Given the description of an element on the screen output the (x, y) to click on. 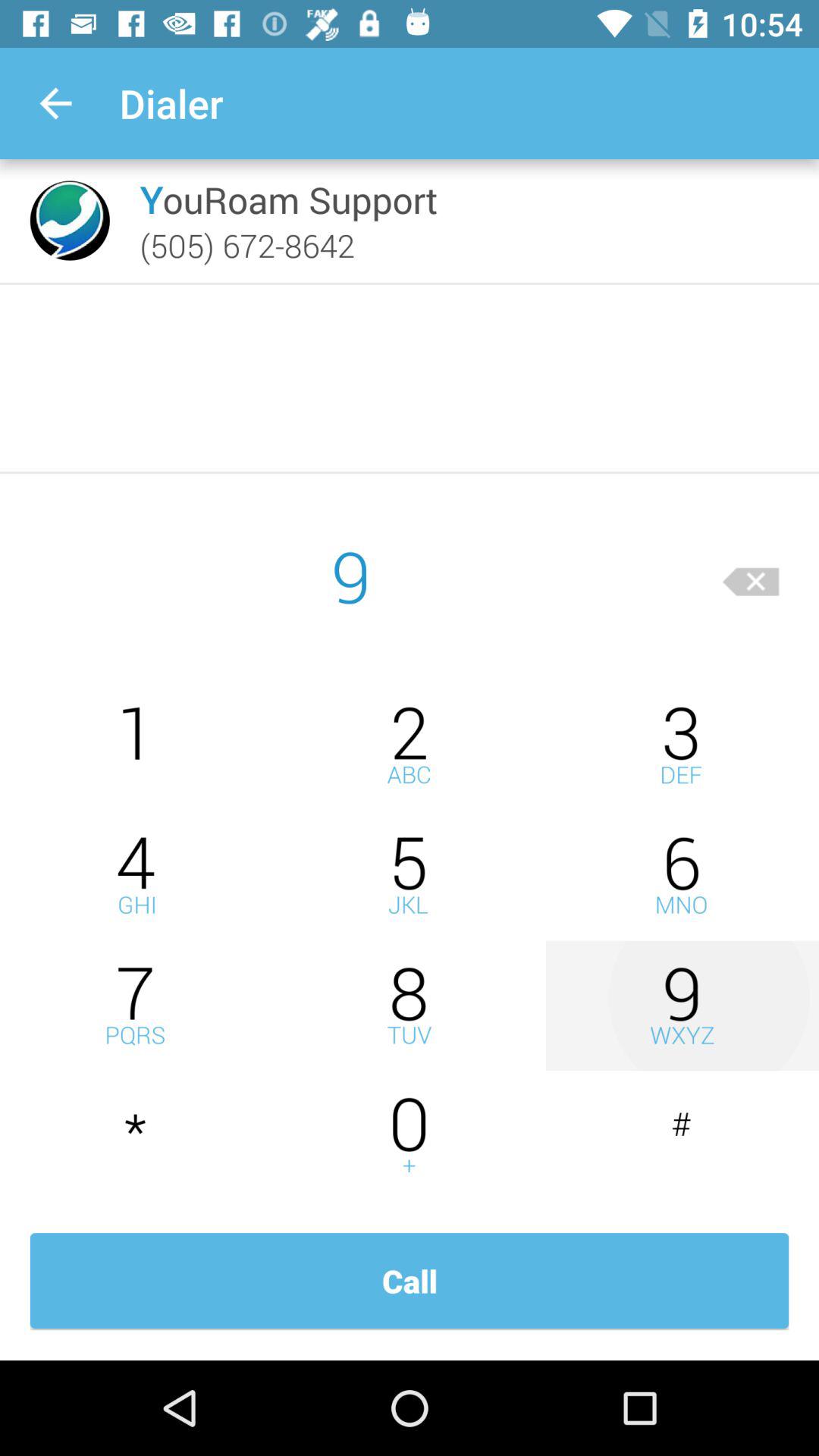
number option (682, 875)
